Given the description of an element on the screen output the (x, y) to click on. 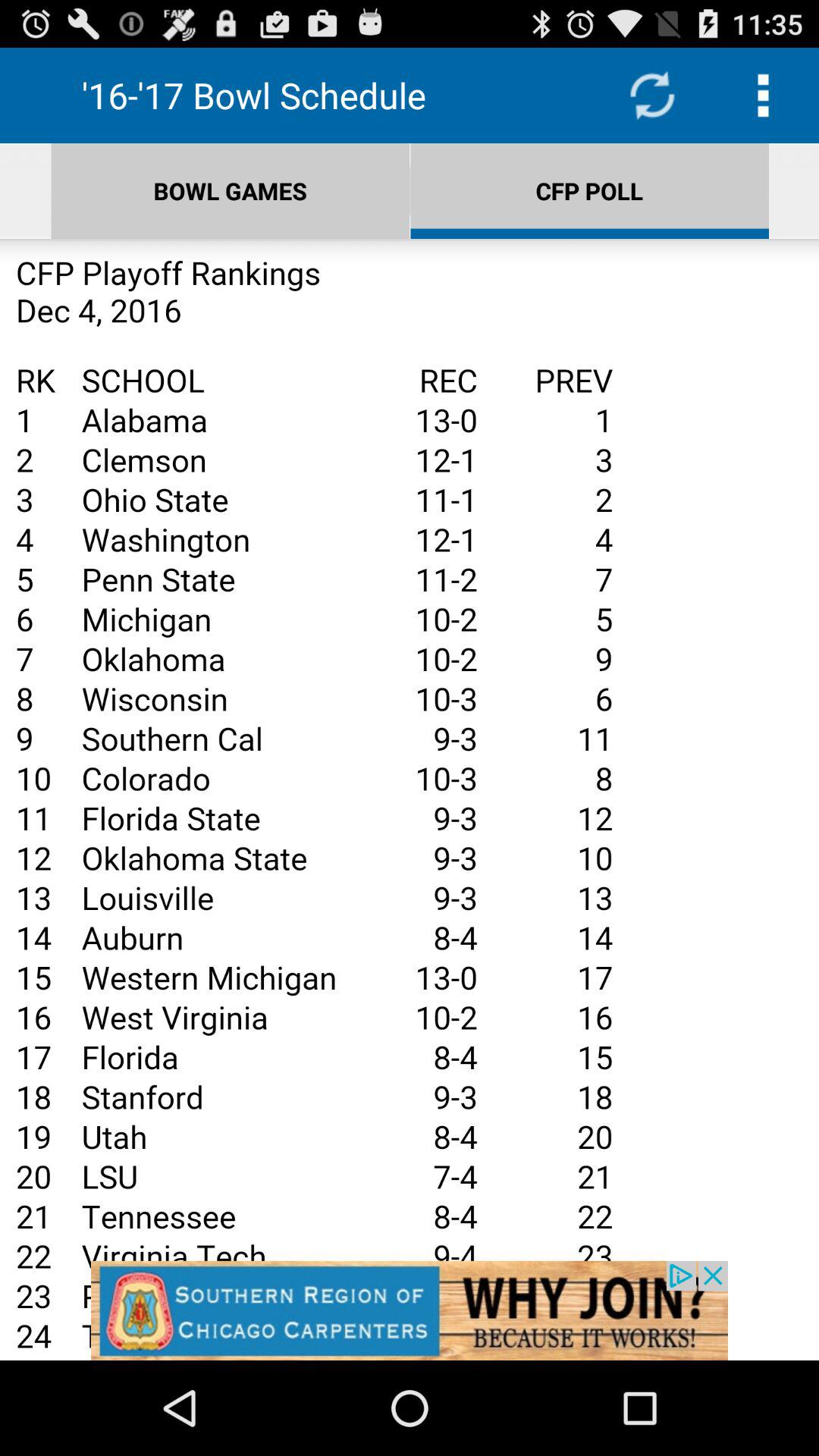
refresh the list (651, 95)
